Given the description of an element on the screen output the (x, y) to click on. 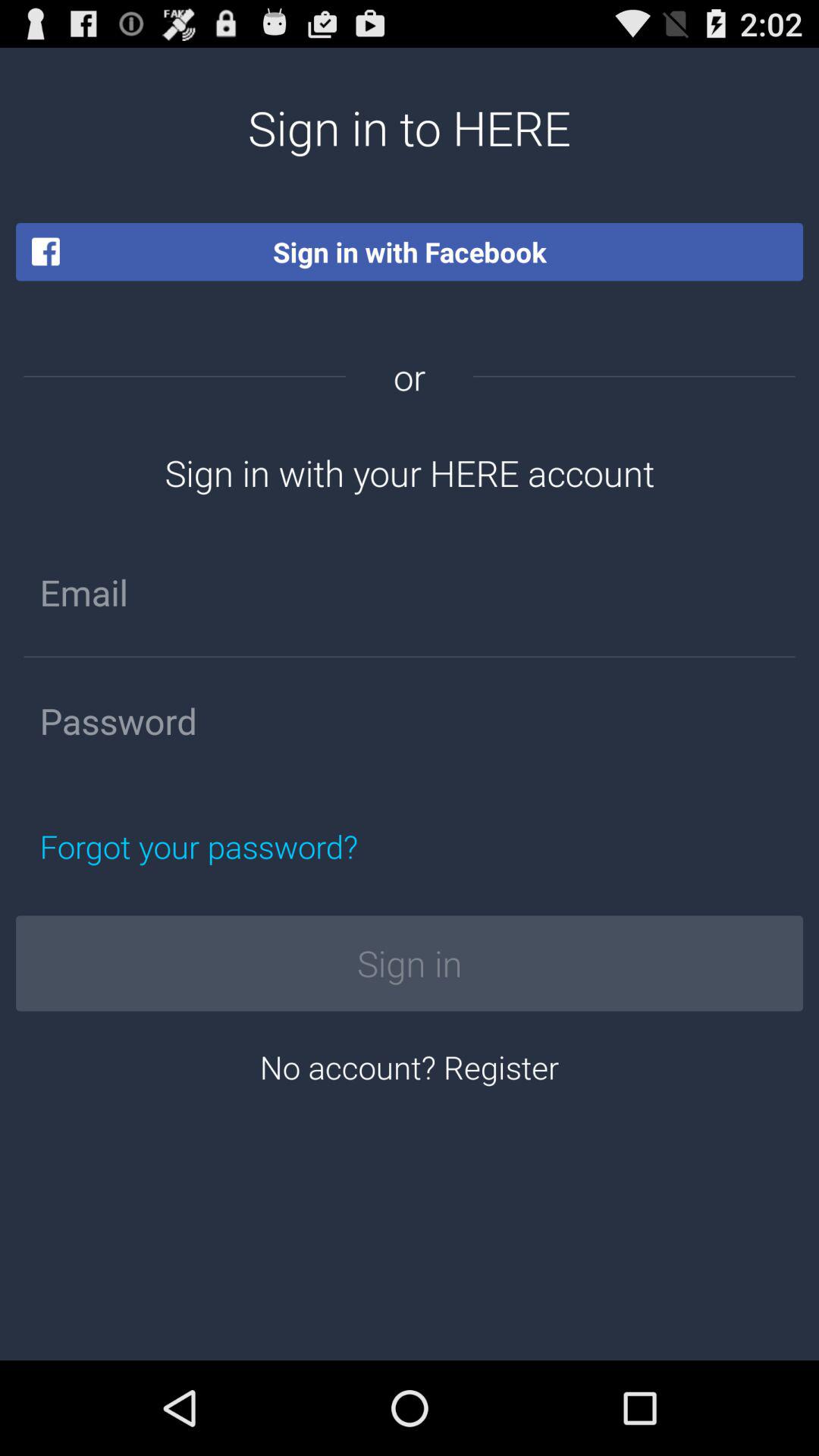
tap no account? register (409, 1066)
